Given the description of an element on the screen output the (x, y) to click on. 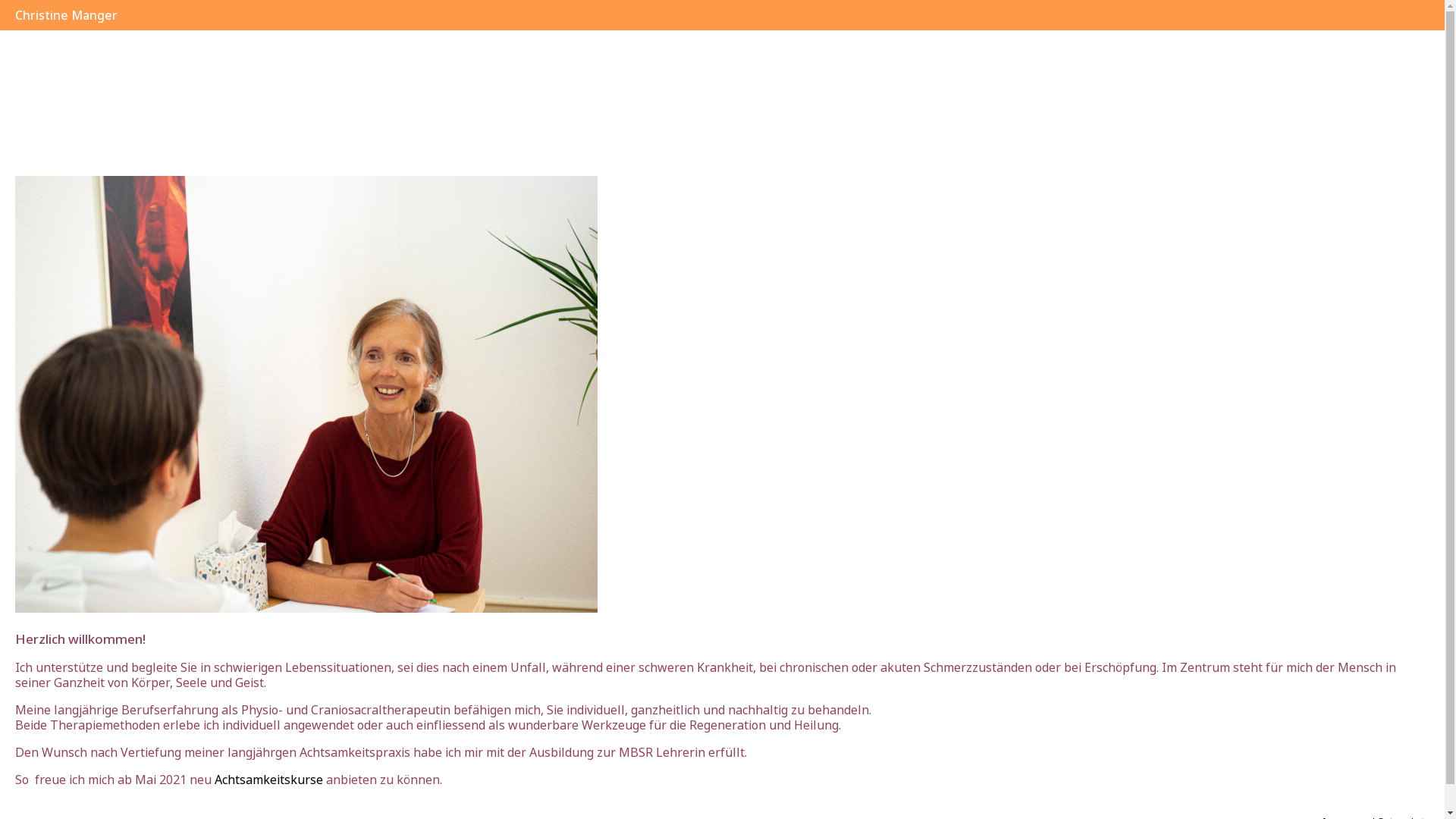
Craniosacral Therapie Element type: text (722, 45)
Physiotherapie Element type: text (722, 75)
Christine Manger Element type: text (722, 15)
Achtsamkeitskurse Element type: text (270, 779)
Achtsamkeit (MBSR) Element type: text (722, 106)
